Given the description of an element on the screen output the (x, y) to click on. 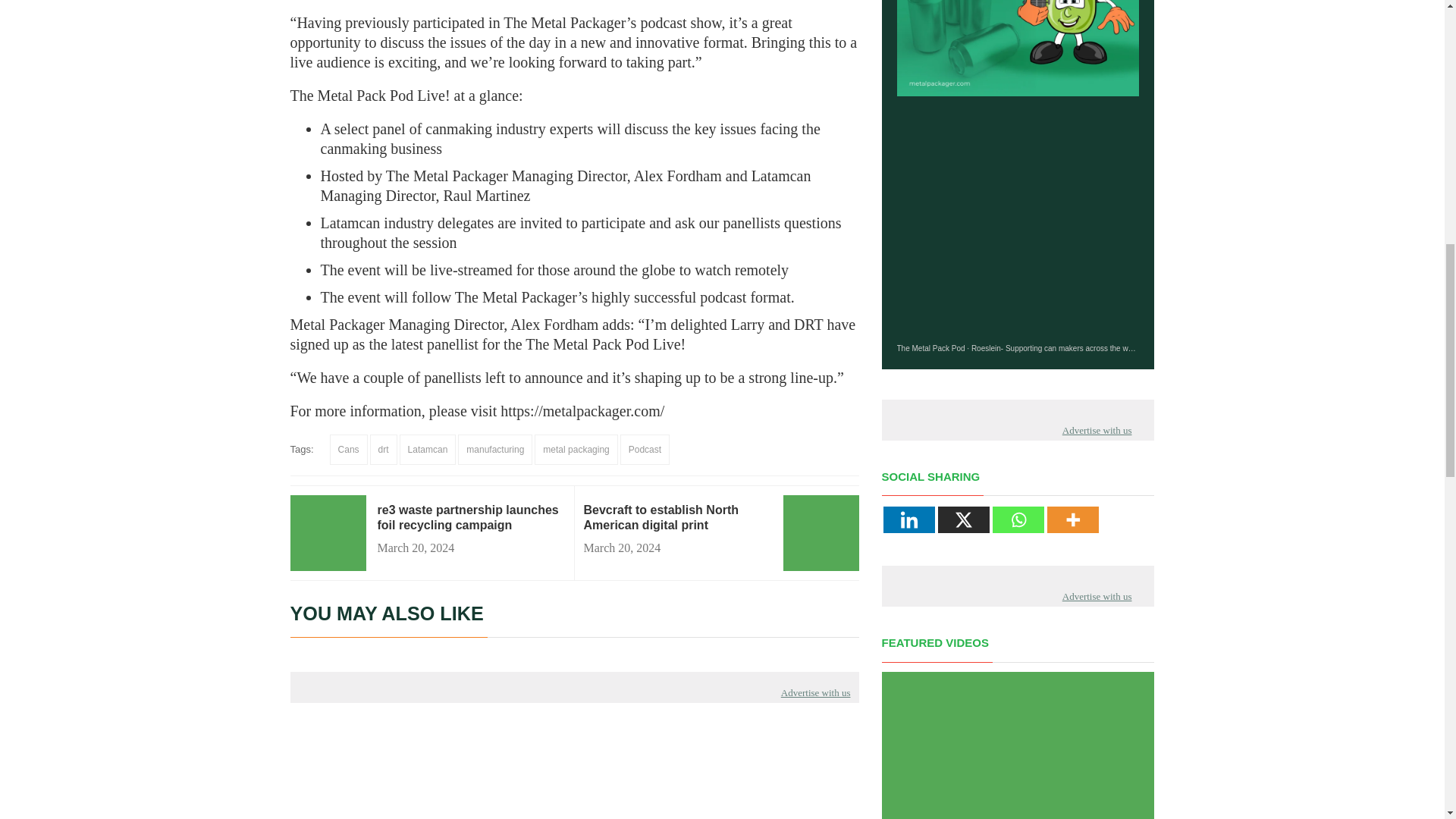
drt (383, 449)
metal packaging (575, 449)
Podcast (644, 449)
The Metal Pack Pod (929, 347)
manufacturing (495, 449)
prev post (677, 524)
Latamcan (427, 449)
re3 waste partnership launches foil recycling campaign (470, 517)
prev post (470, 517)
Cans (349, 449)
